Given the description of an element on the screen output the (x, y) to click on. 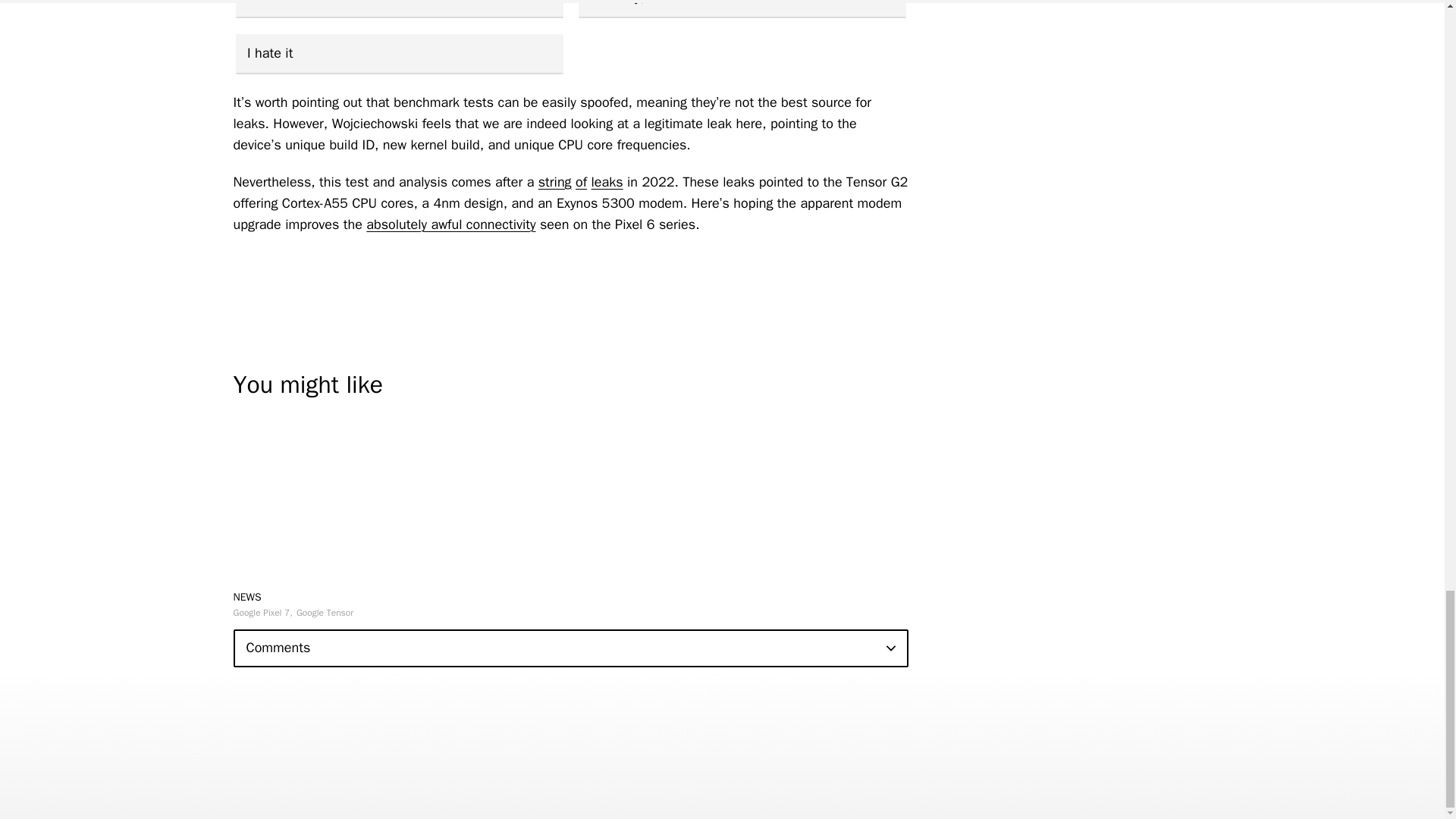
It's okay, could be better (741, 9)
leaks (607, 181)
absolutely awful connectivity (450, 224)
I like it (398, 9)
Google Tensor (325, 612)
I hate it (398, 54)
NEWS (247, 596)
Comments (570, 648)
Google Pixel 7 (262, 612)
string (555, 181)
